Given the description of an element on the screen output the (x, y) to click on. 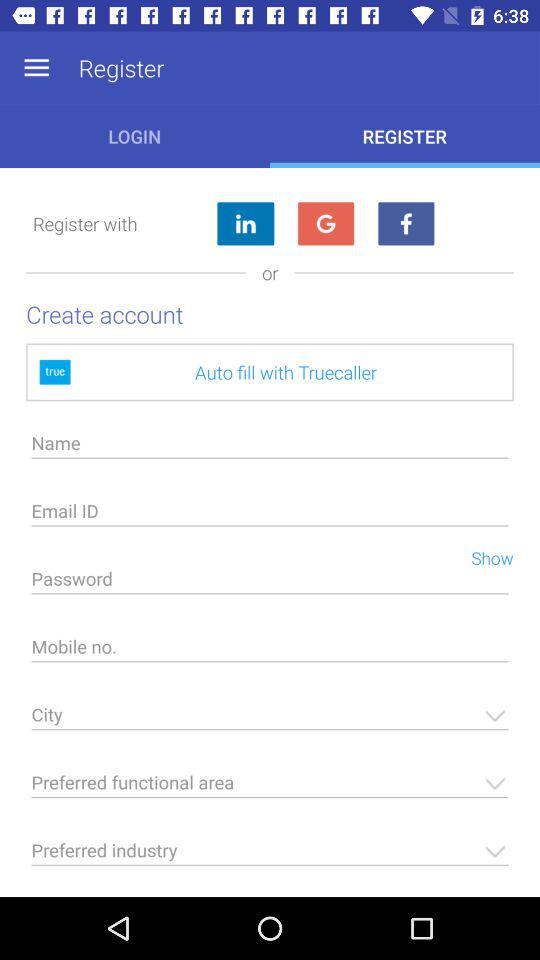
enter email id (269, 516)
